Given the description of an element on the screen output the (x, y) to click on. 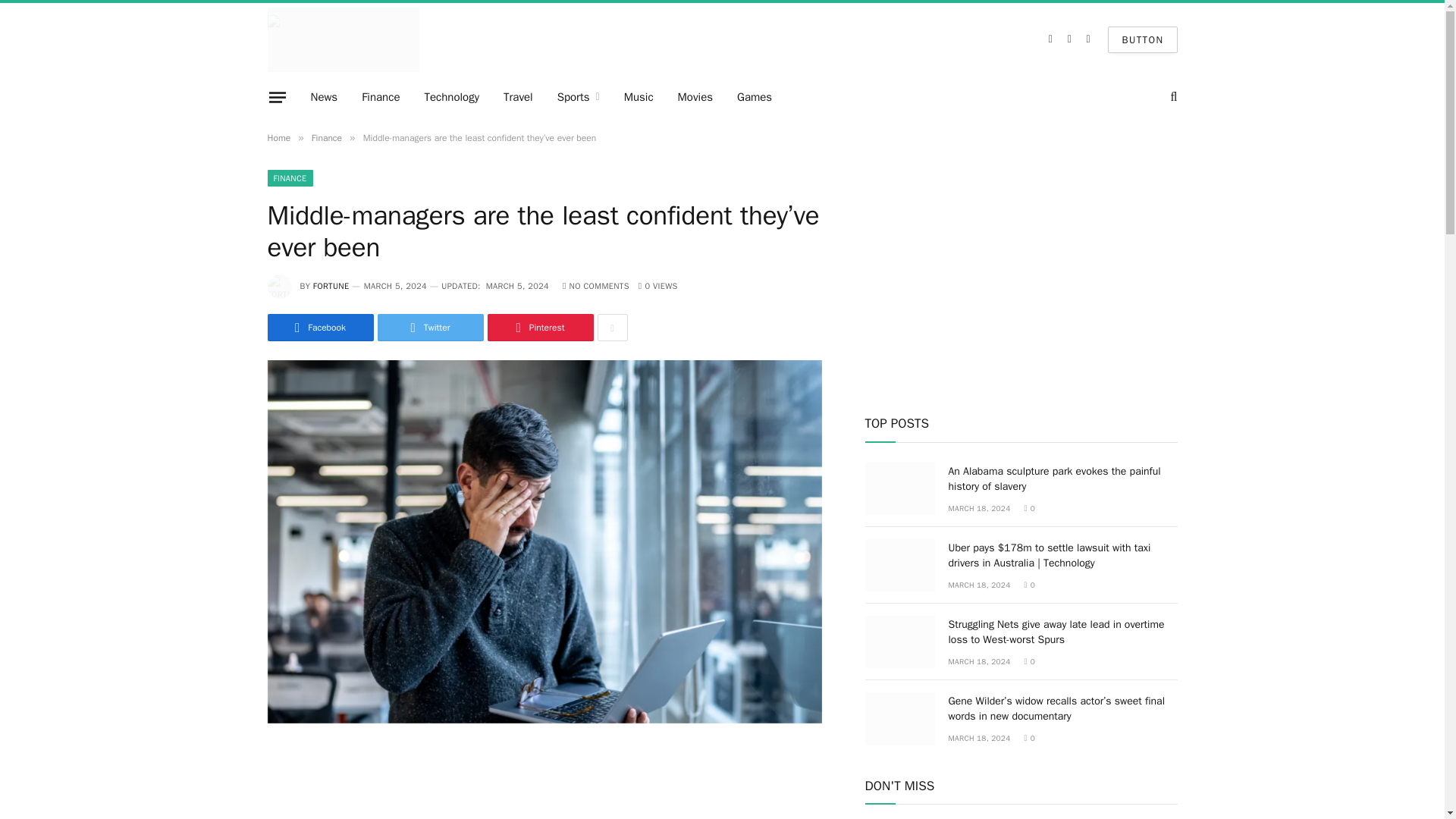
0 Article Views (658, 285)
News (324, 96)
BUTTON (1142, 38)
Movies (695, 96)
Oneasks (342, 39)
Games (754, 96)
Sports (577, 96)
Finance (380, 96)
Technology (452, 96)
Share on Facebook (319, 327)
